Given the description of an element on the screen output the (x, y) to click on. 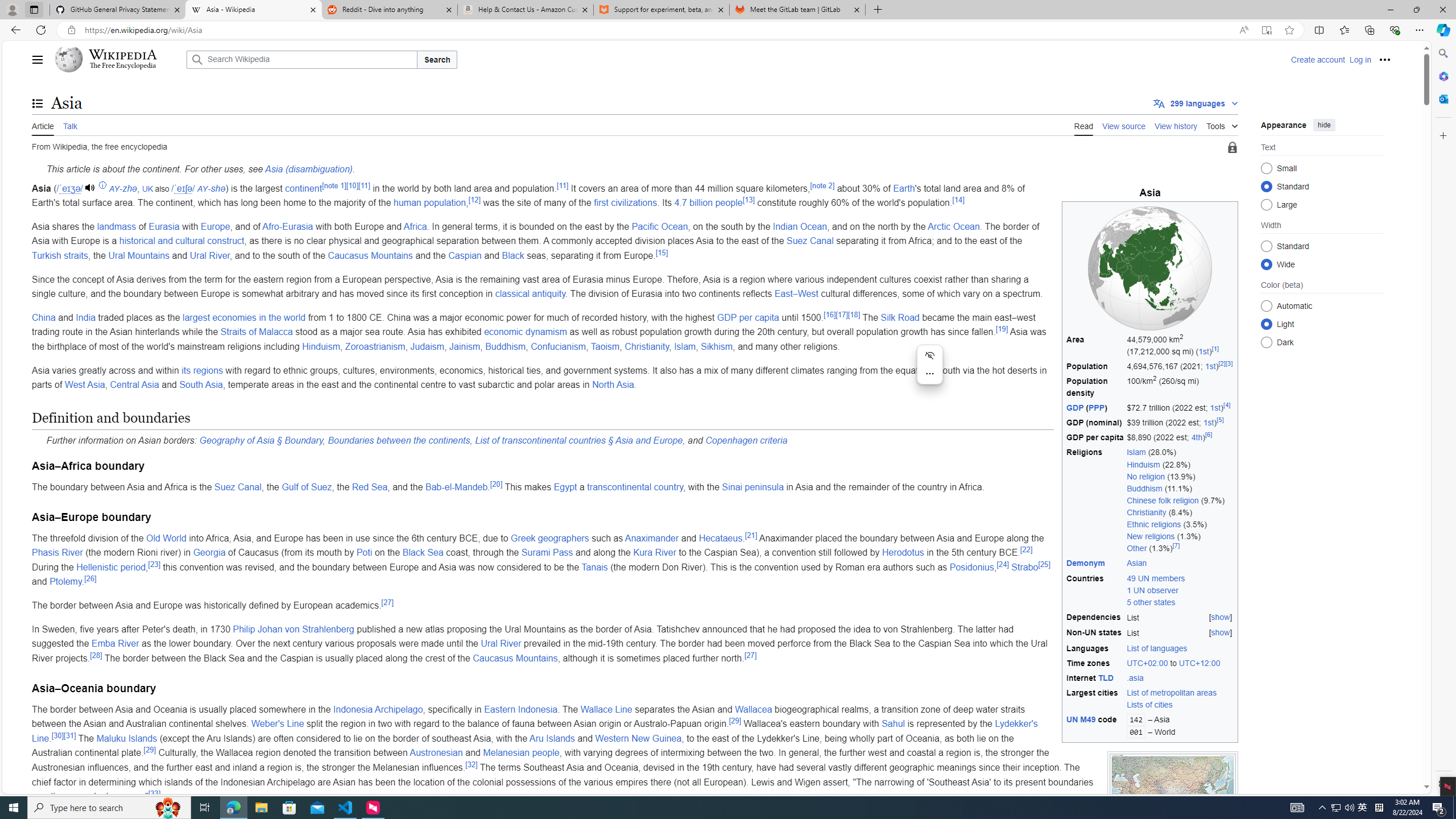
Play audio (91, 188)
Hinduism (320, 346)
largest economies in the world (243, 317)
[31] (69, 734)
Meet the GitLab team | GitLab (797, 9)
Buddhism (11.1%) (1180, 488)
Surami Pass (547, 552)
Maluku Islands (126, 738)
Africa (414, 226)
New religions (1150, 536)
landmass (116, 226)
India (85, 317)
Western New Guinea (638, 738)
